Given the description of an element on the screen output the (x, y) to click on. 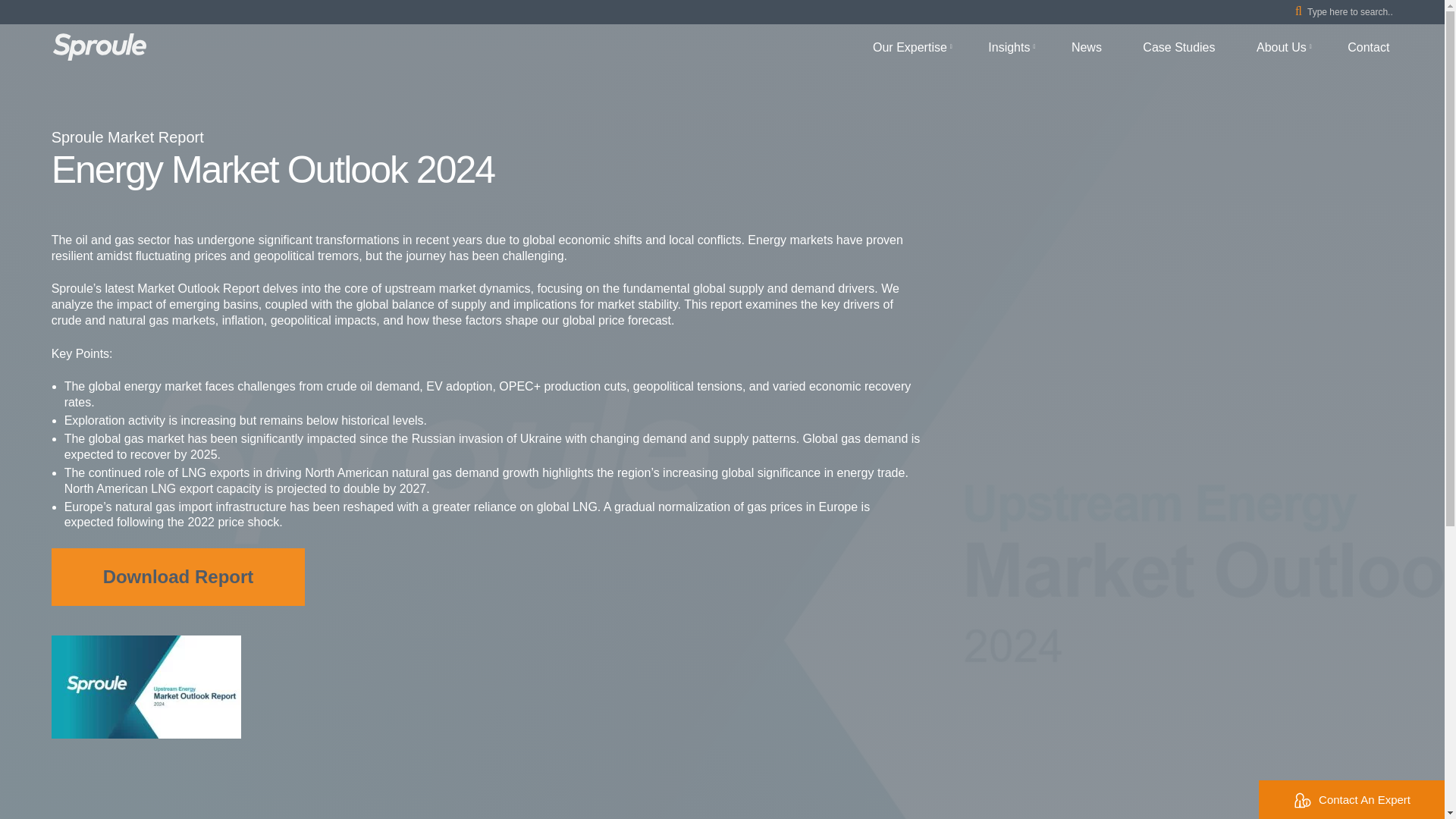
Download Report (177, 576)
Case Studies (1178, 48)
About Us (1281, 48)
Our Expertise (909, 48)
Contact (1368, 48)
News (1086, 48)
Insights (1008, 48)
